Given the description of an element on the screen output the (x, y) to click on. 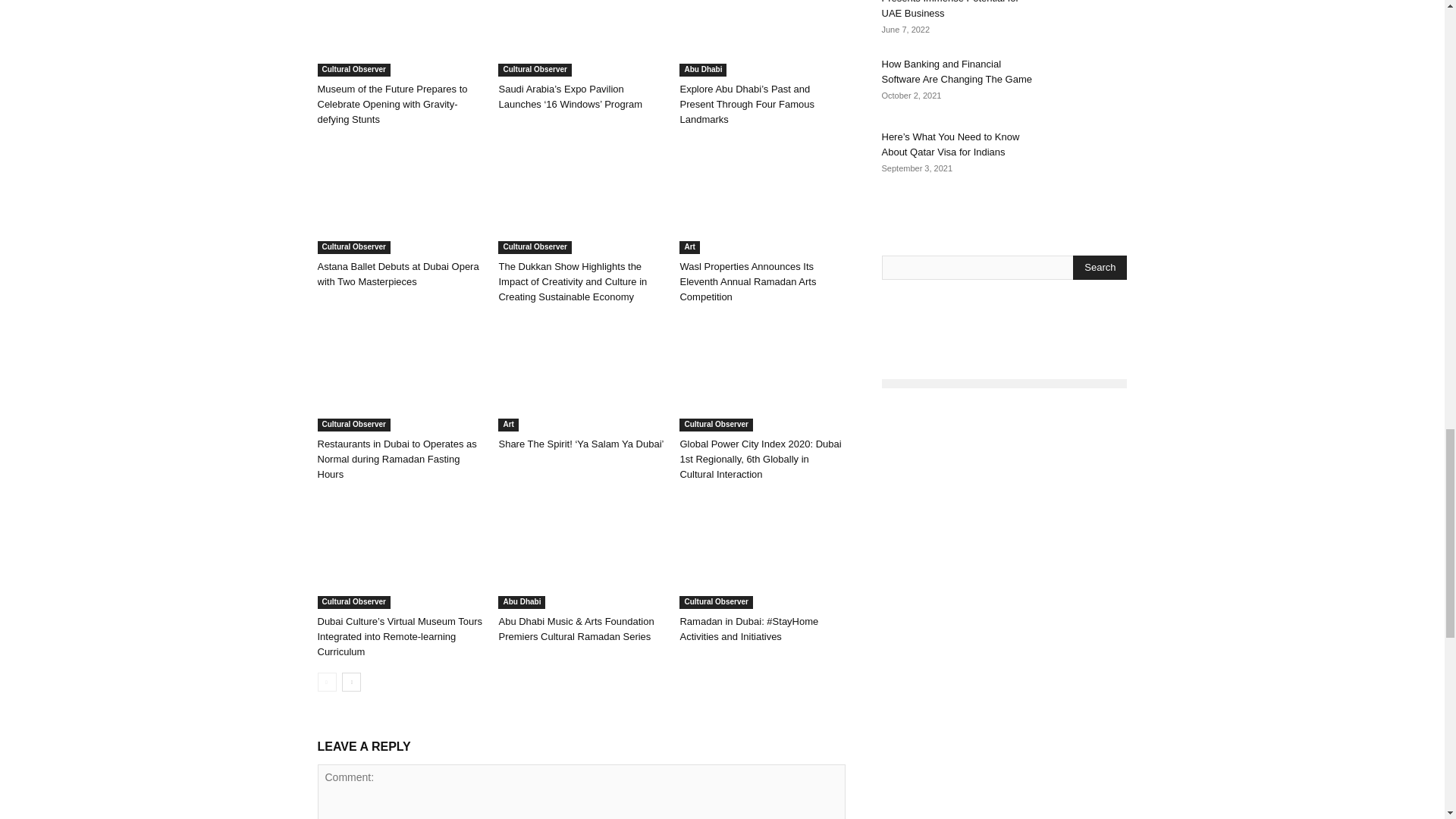
Search (1099, 267)
